Given the description of an element on the screen output the (x, y) to click on. 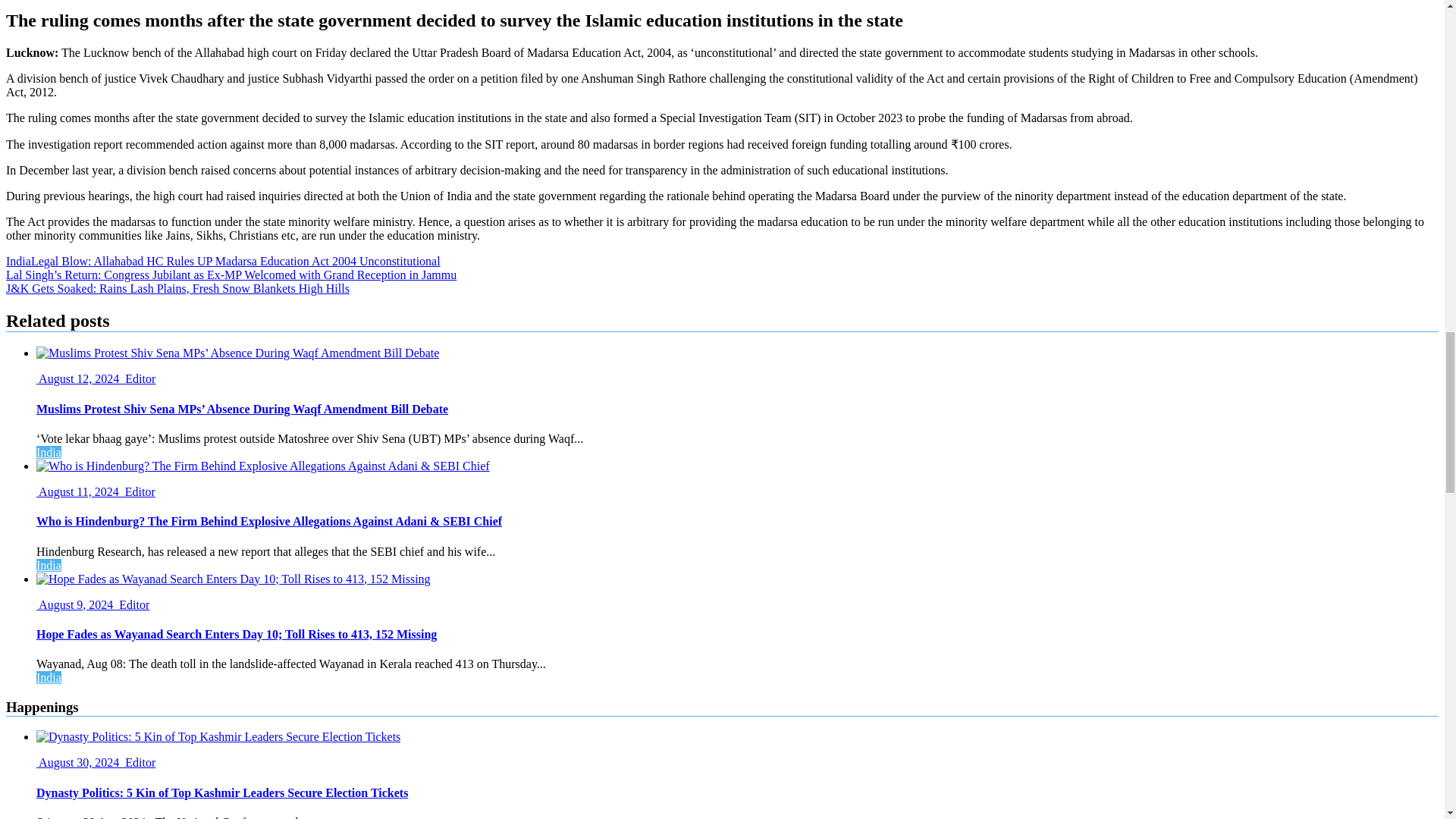
Editor (132, 603)
Editor (138, 762)
Editor (138, 491)
Editor (138, 378)
